Given the description of an element on the screen output the (x, y) to click on. 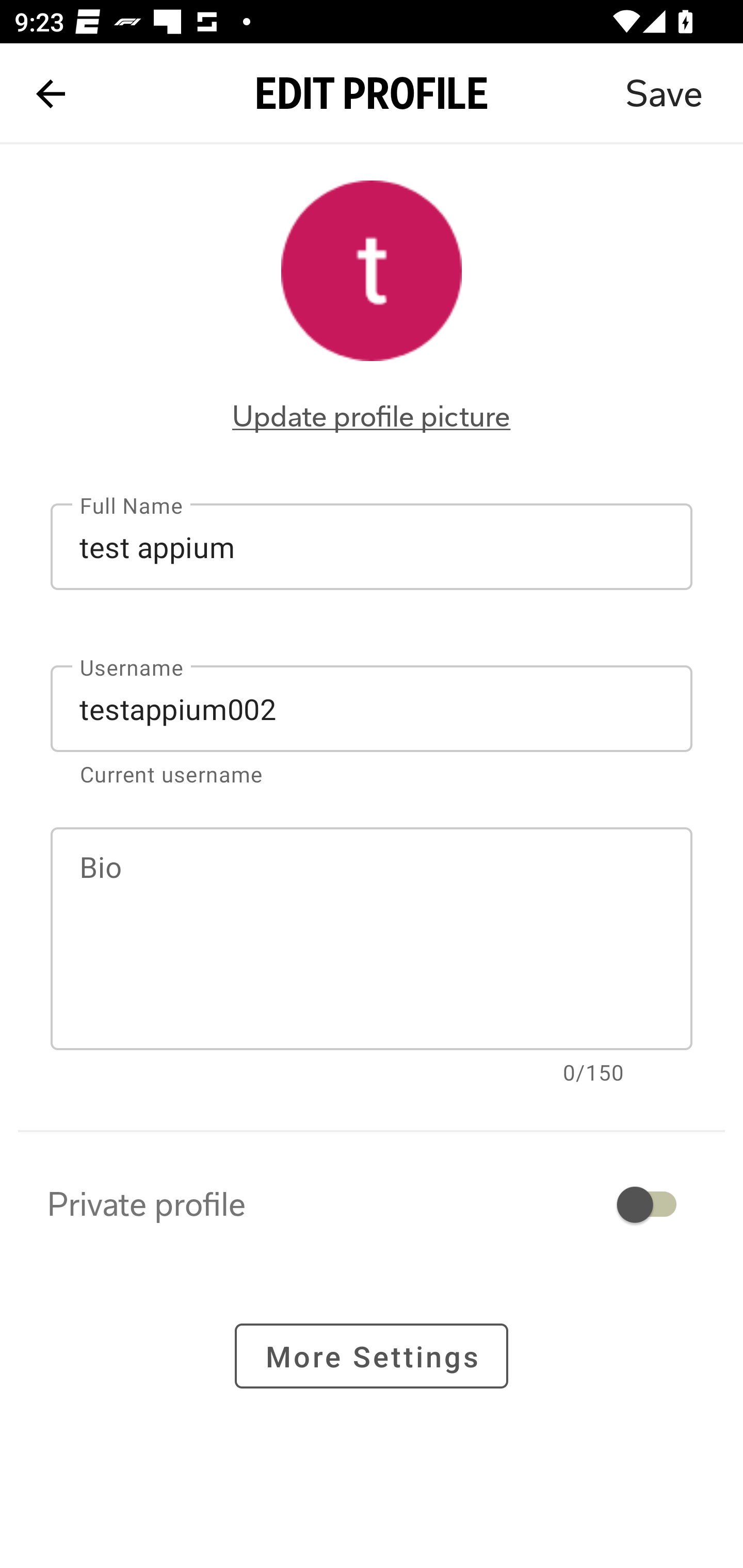
Back (50, 93)
Save (663, 93)
Update profile picture (371, 415)
test appium (371, 546)
testappium002 (371, 708)
Bio (371, 938)
Private profile (371, 1204)
More Settings (371, 1355)
